Given the description of an element on the screen output the (x, y) to click on. 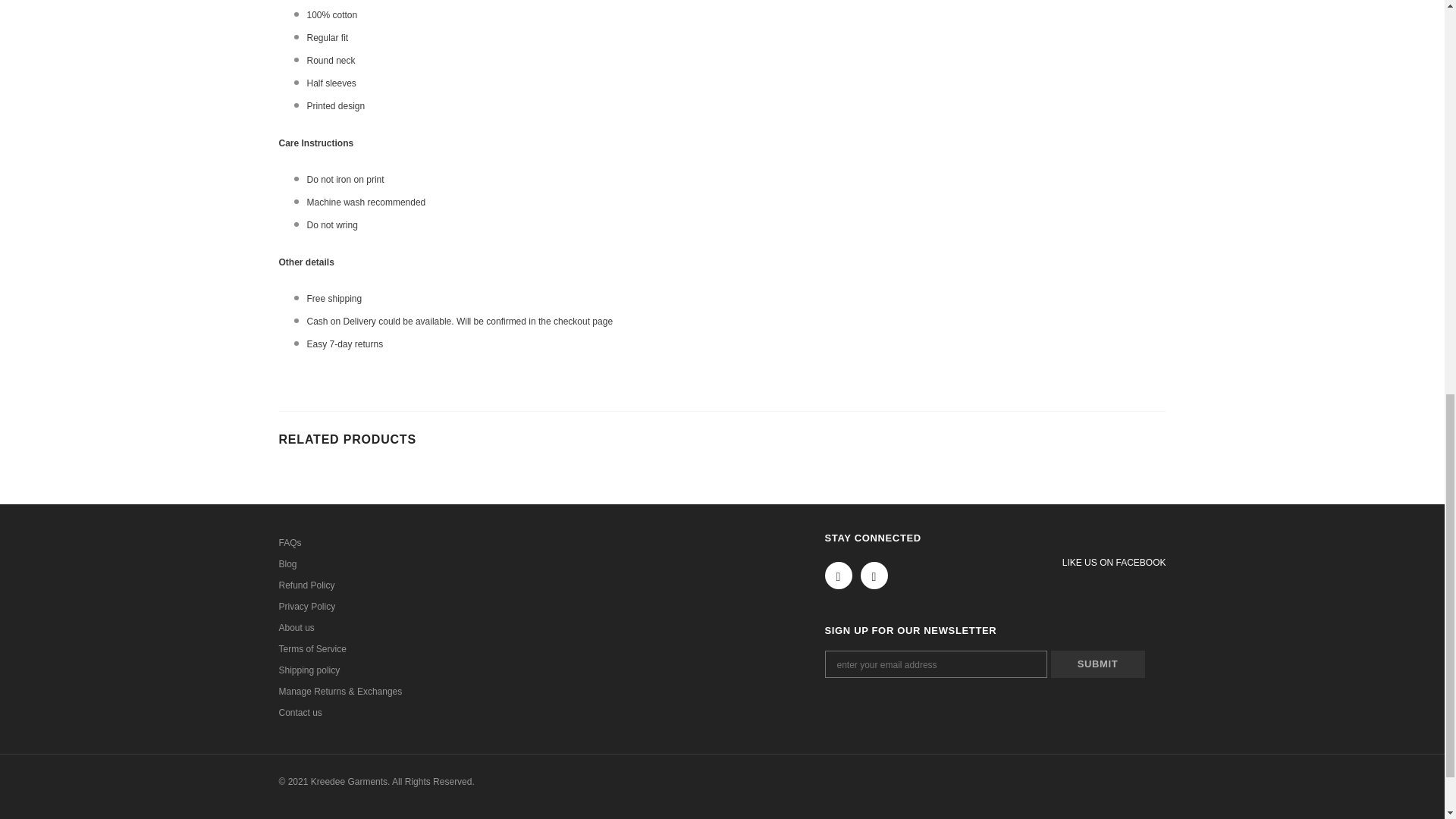
Submit (1097, 664)
